Given the description of an element on the screen output the (x, y) to click on. 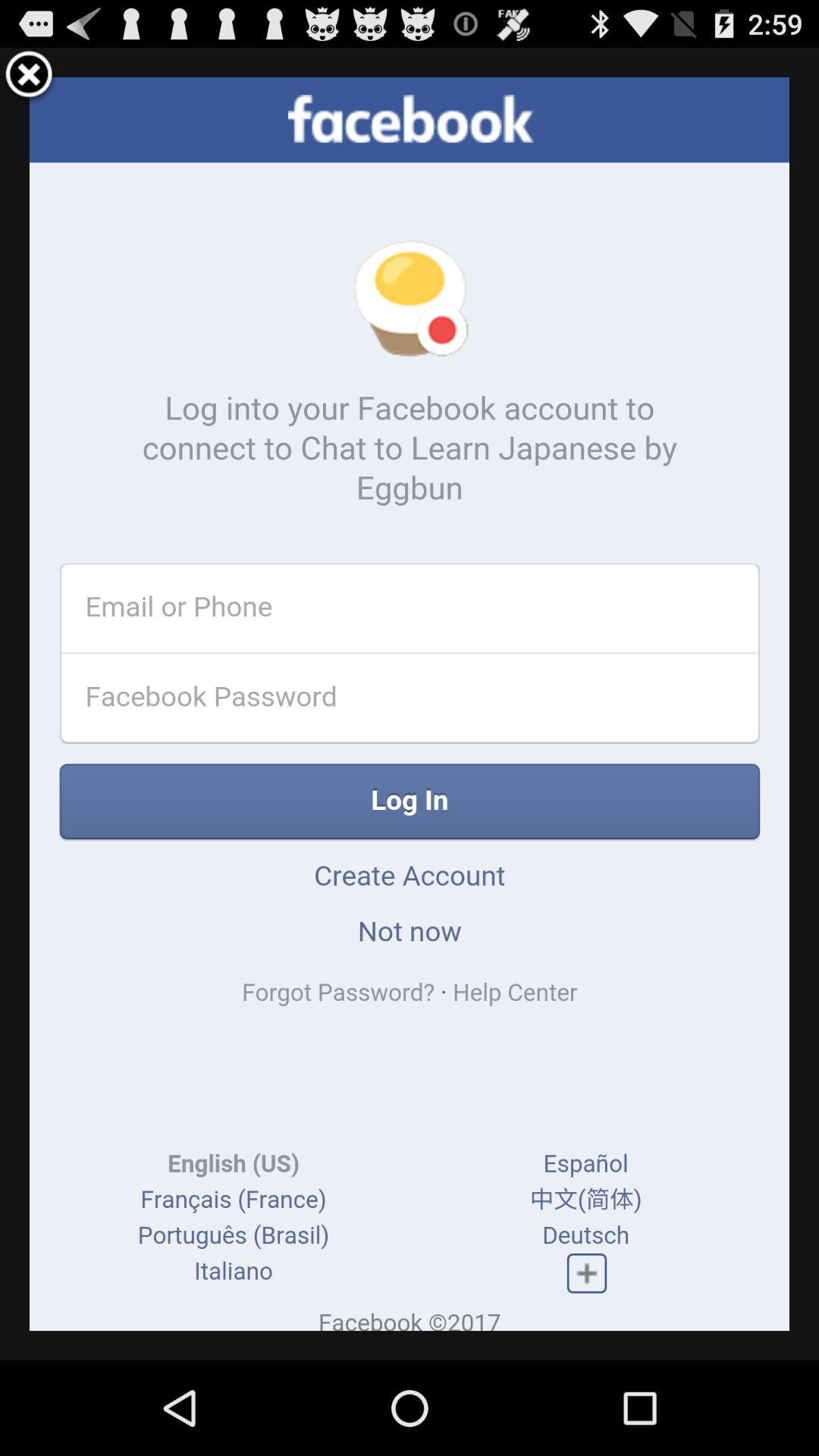
close advertisement (29, 76)
